Given the description of an element on the screen output the (x, y) to click on. 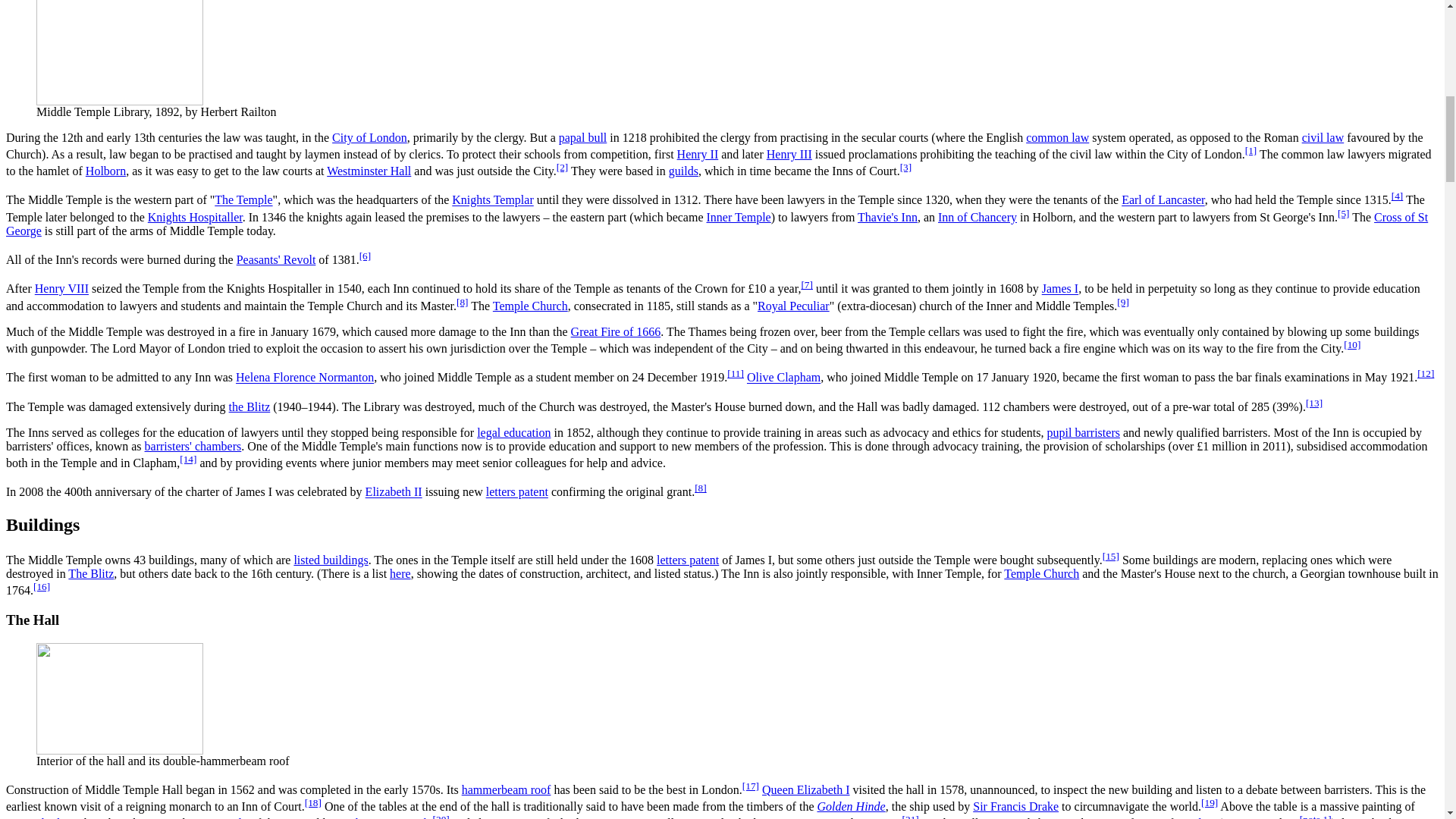
common law (1057, 137)
The Temple (243, 200)
papal bull (583, 137)
City of London (369, 137)
Westminster Hall (368, 170)
Earl of Lancaster (1163, 200)
Holborn (105, 170)
Henry II (698, 154)
Knights Templar (491, 200)
Henry III (789, 154)
guilds (683, 170)
civil law (1322, 137)
